Given the description of an element on the screen output the (x, y) to click on. 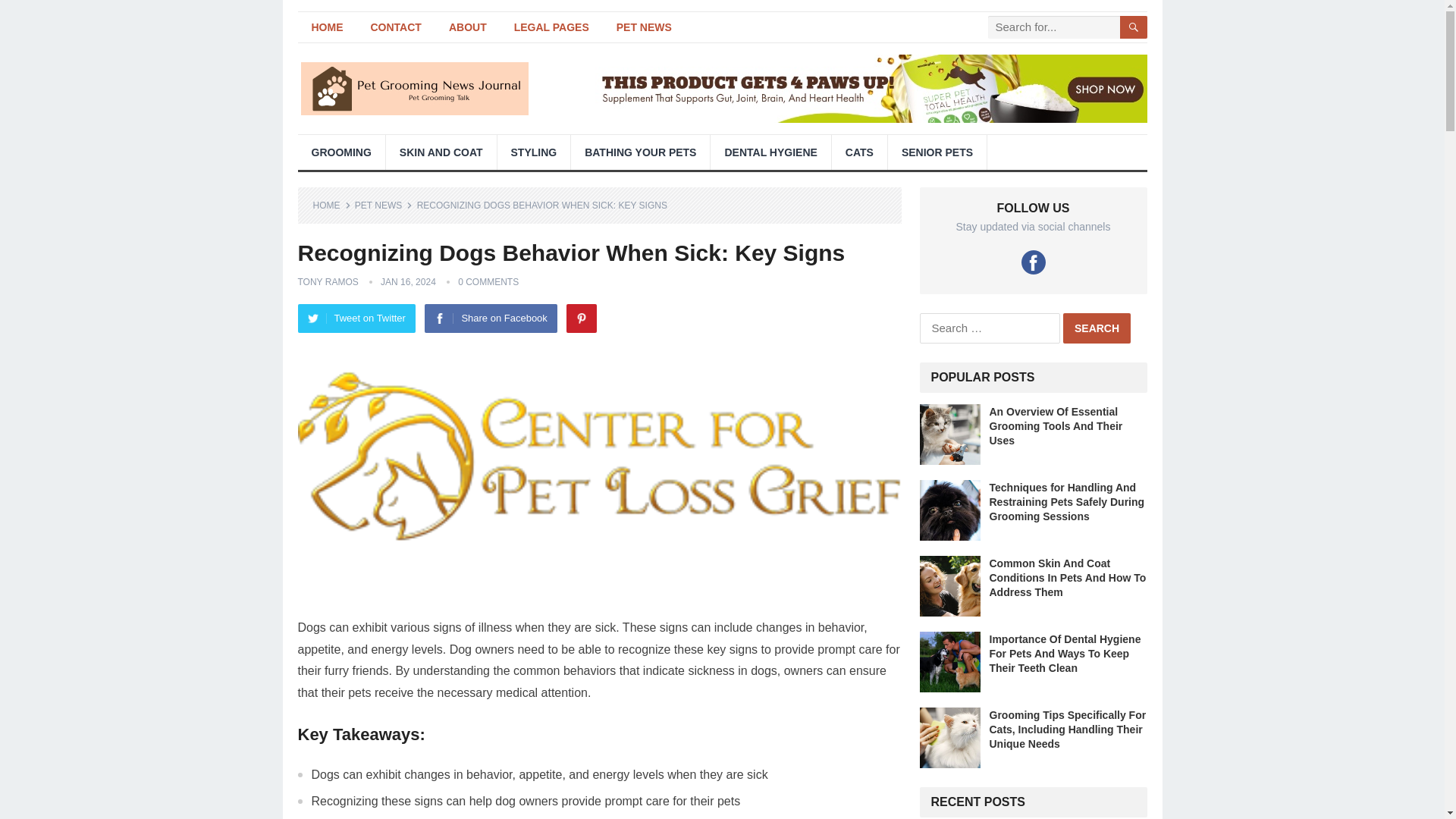
PET NEWS (643, 27)
0 COMMENTS (488, 281)
DENTAL HYGIENE (769, 152)
LEGAL PAGES (551, 27)
HOME (326, 27)
HOME (331, 204)
Posts by Tony Ramos (327, 281)
GROOMING (340, 152)
CONTACT (394, 27)
CATS (858, 152)
